Given the description of an element on the screen output the (x, y) to click on. 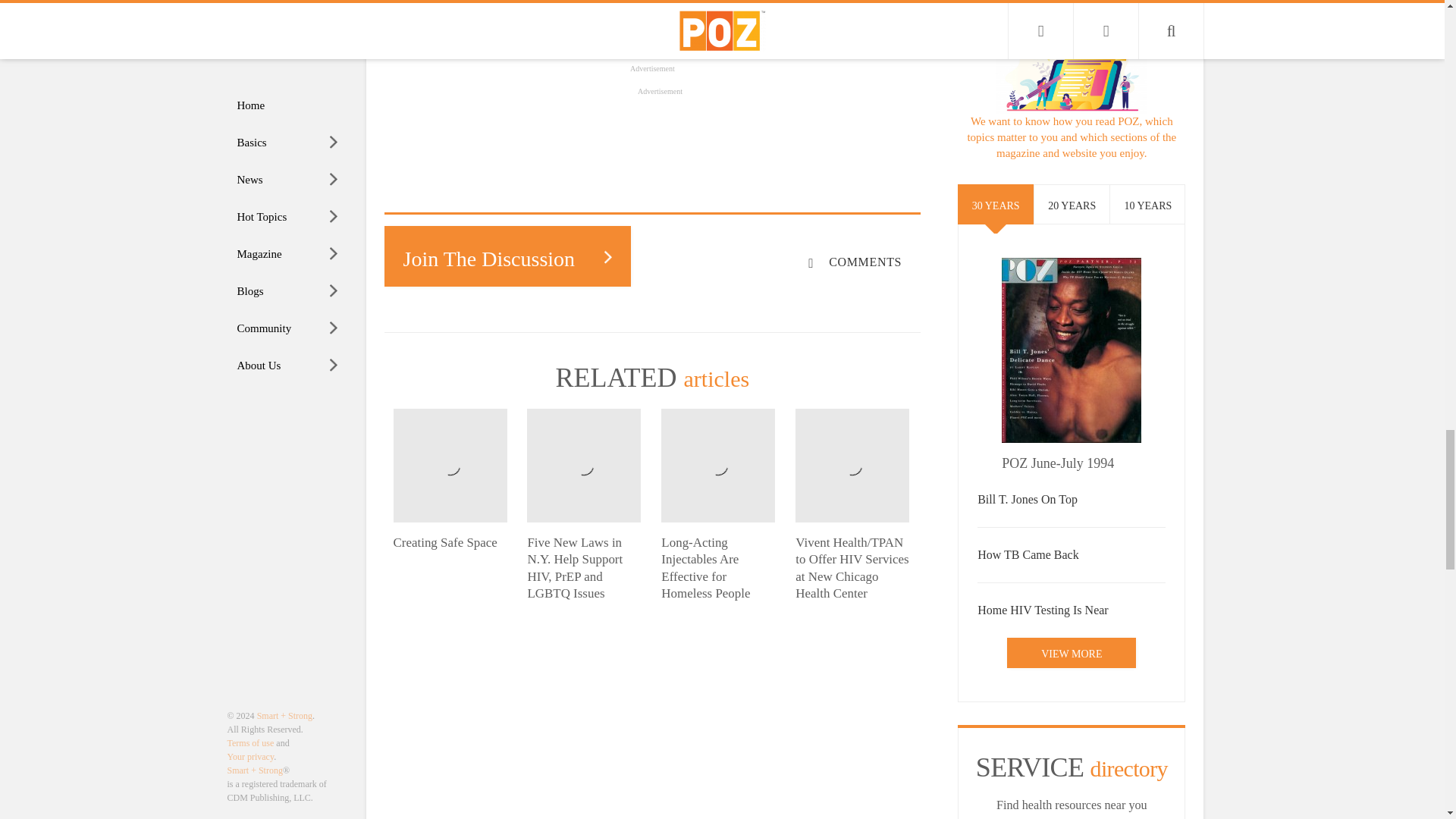
3rd party ad content (660, 110)
